Given the description of an element on the screen output the (x, y) to click on. 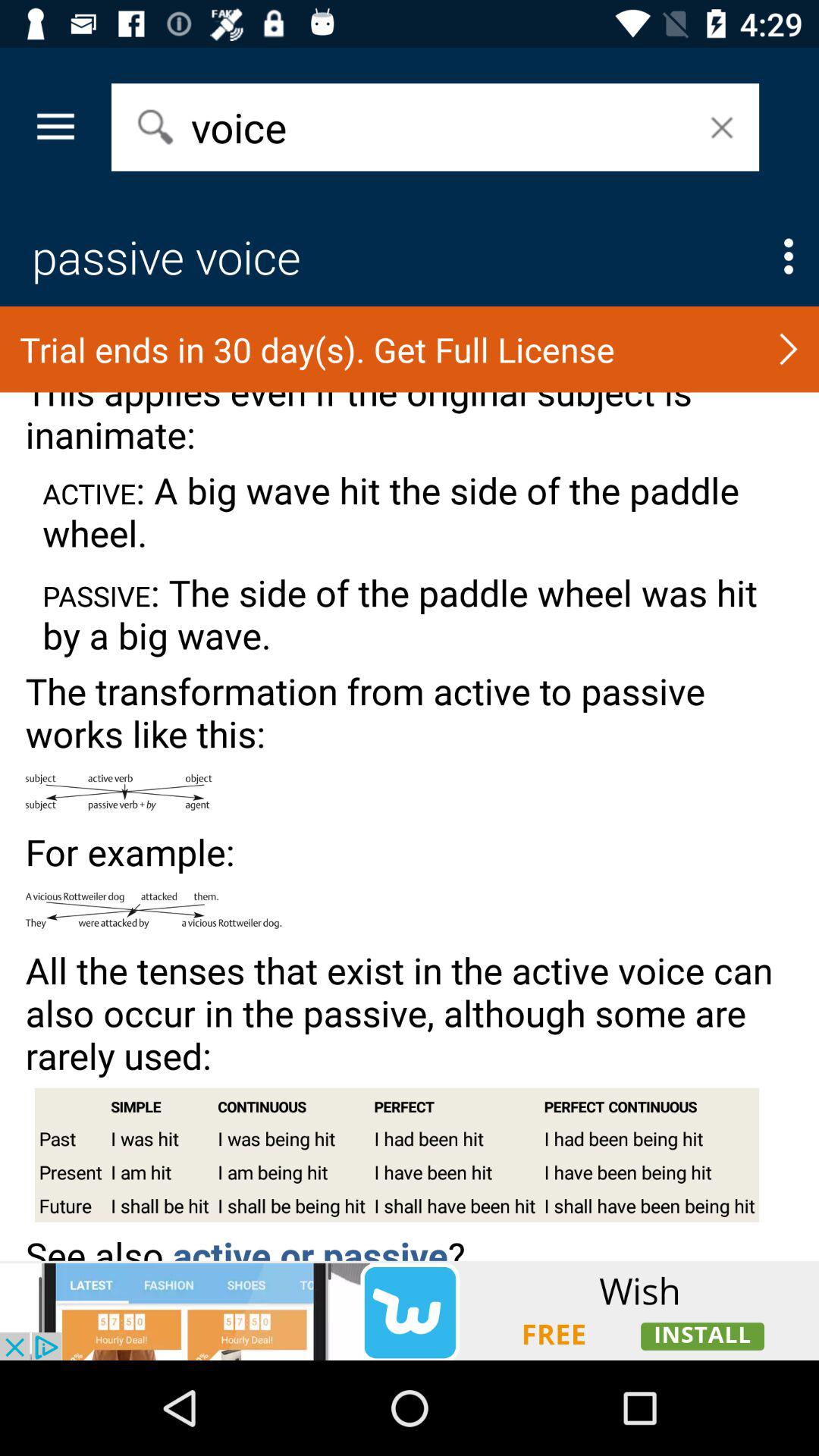
add banner (409, 1310)
